Given the description of an element on the screen output the (x, y) to click on. 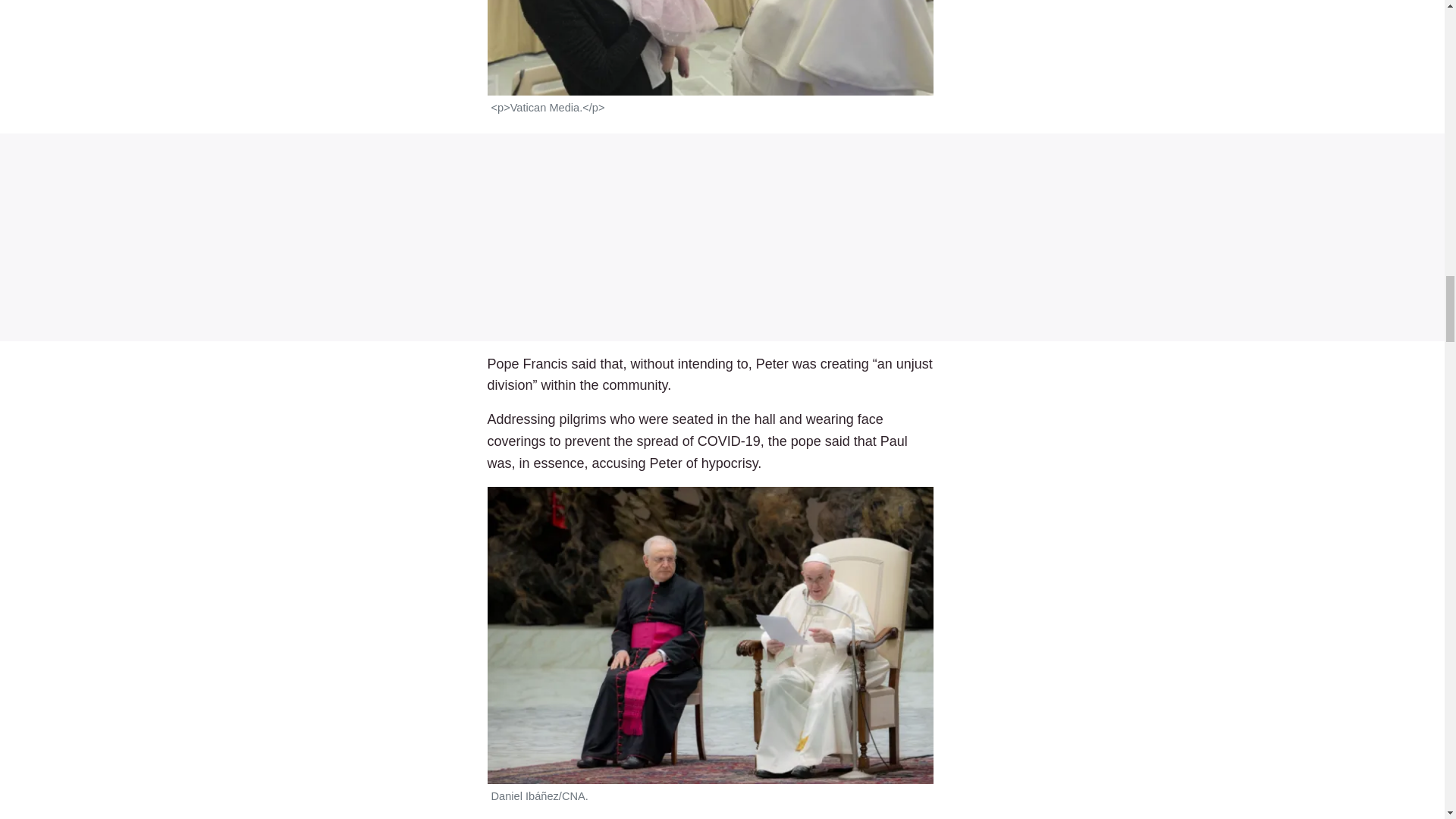
3rd party ad content (721, 237)
